Given the description of an element on the screen output the (x, y) to click on. 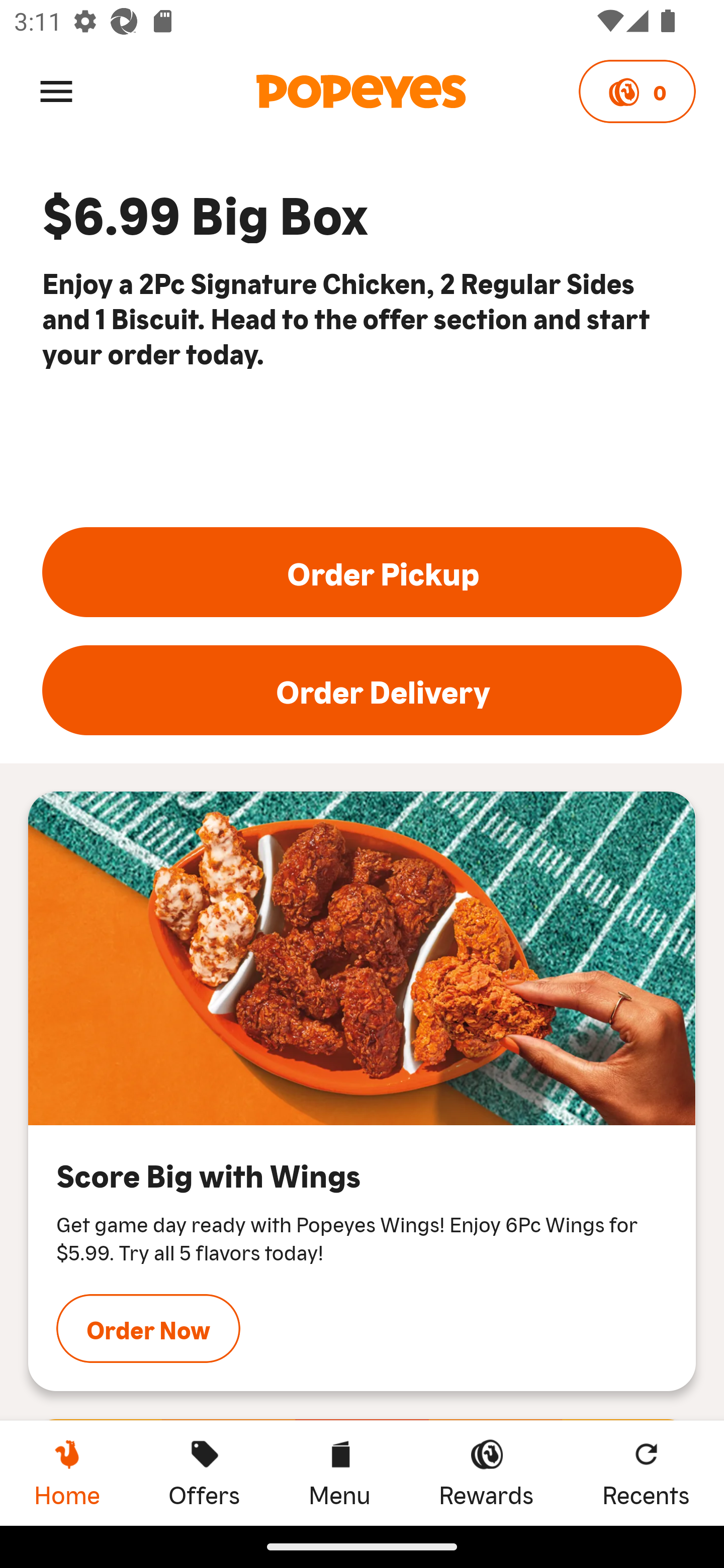
Menu  (56, 90)
0 Points 0 (636, 91)
Order Pickup (361, 571)
Order Delivery (361, 690)
Score Big with Wings (361, 958)
Order Now (148, 1327)
Home, current page Home Home, current page (66, 1472)
Offers Offers Offers (203, 1472)
Menu Menu Menu (339, 1472)
Rewards Rewards Rewards (486, 1472)
Recents Recents Recents (646, 1472)
